Given the description of an element on the screen output the (x, y) to click on. 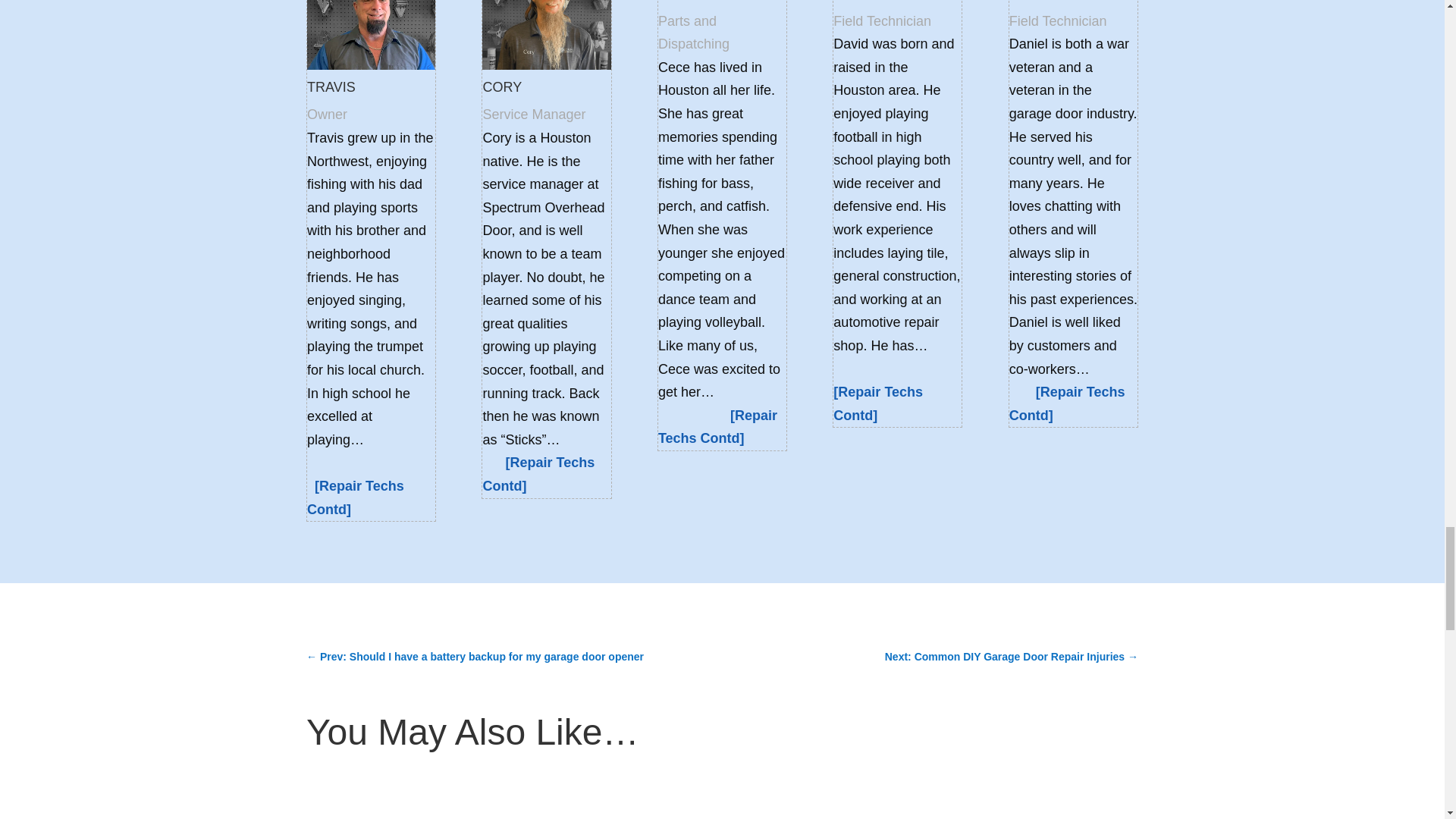
Spring Repair Tech (1067, 403)
Spring Repair Tech (537, 474)
Spring Repair Tech (877, 403)
Spring Repair Tech (717, 426)
Spring Repair Technician (355, 497)
